Given the description of an element on the screen output the (x, y) to click on. 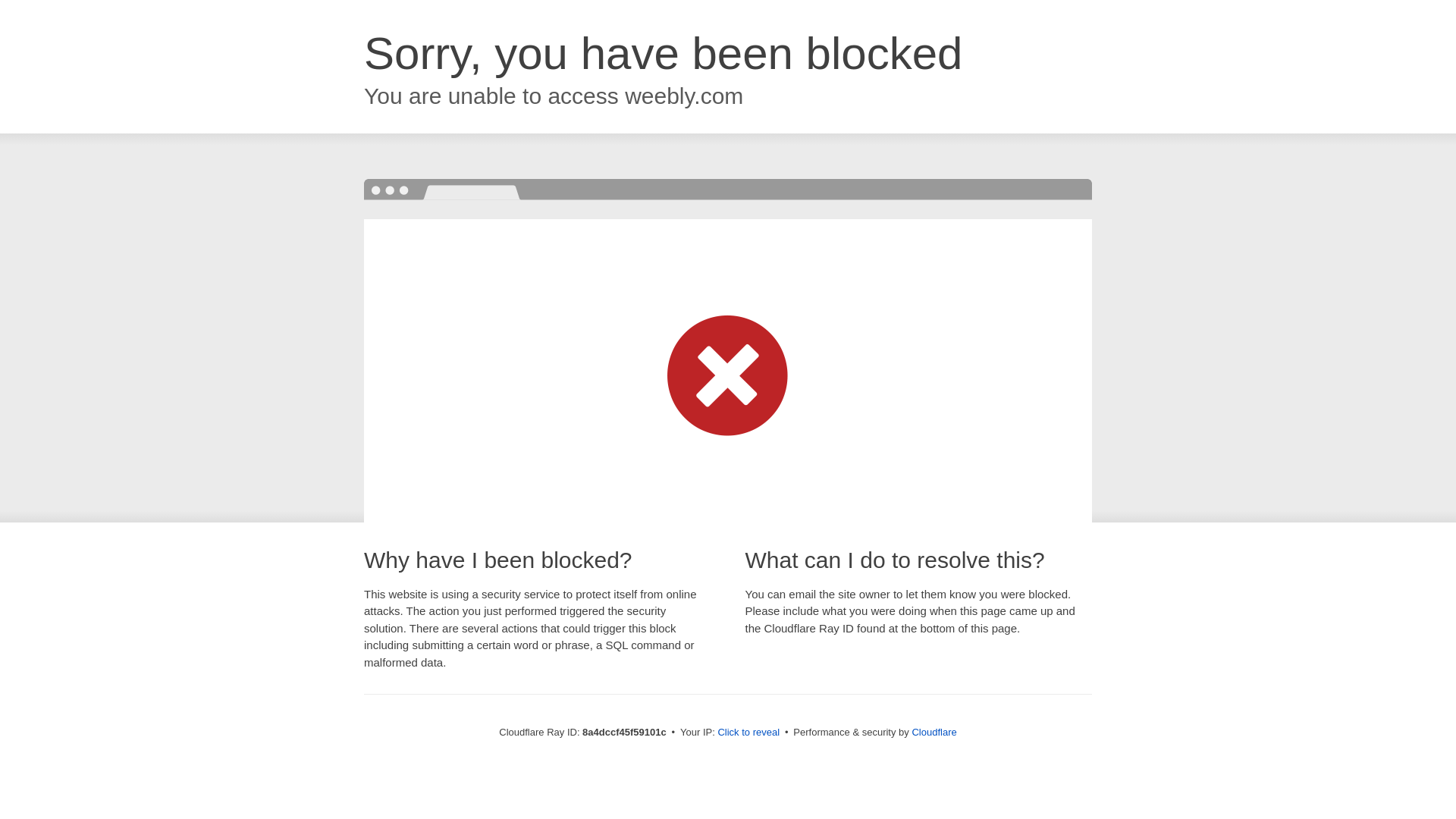
Cloudflare (933, 731)
Click to reveal (747, 732)
